Given the description of an element on the screen output the (x, y) to click on. 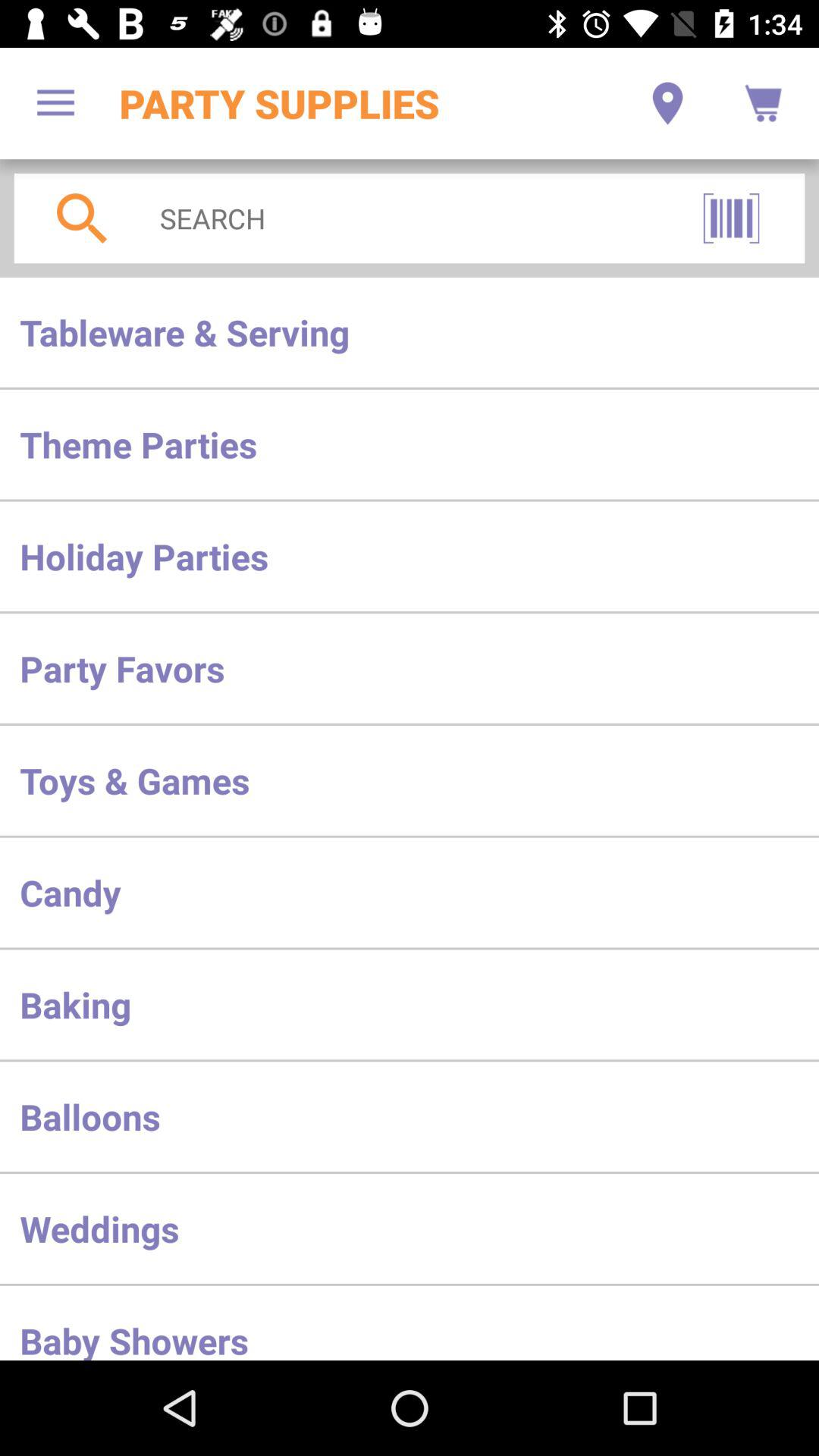
choose toys & games icon (409, 780)
